Given the description of an element on the screen output the (x, y) to click on. 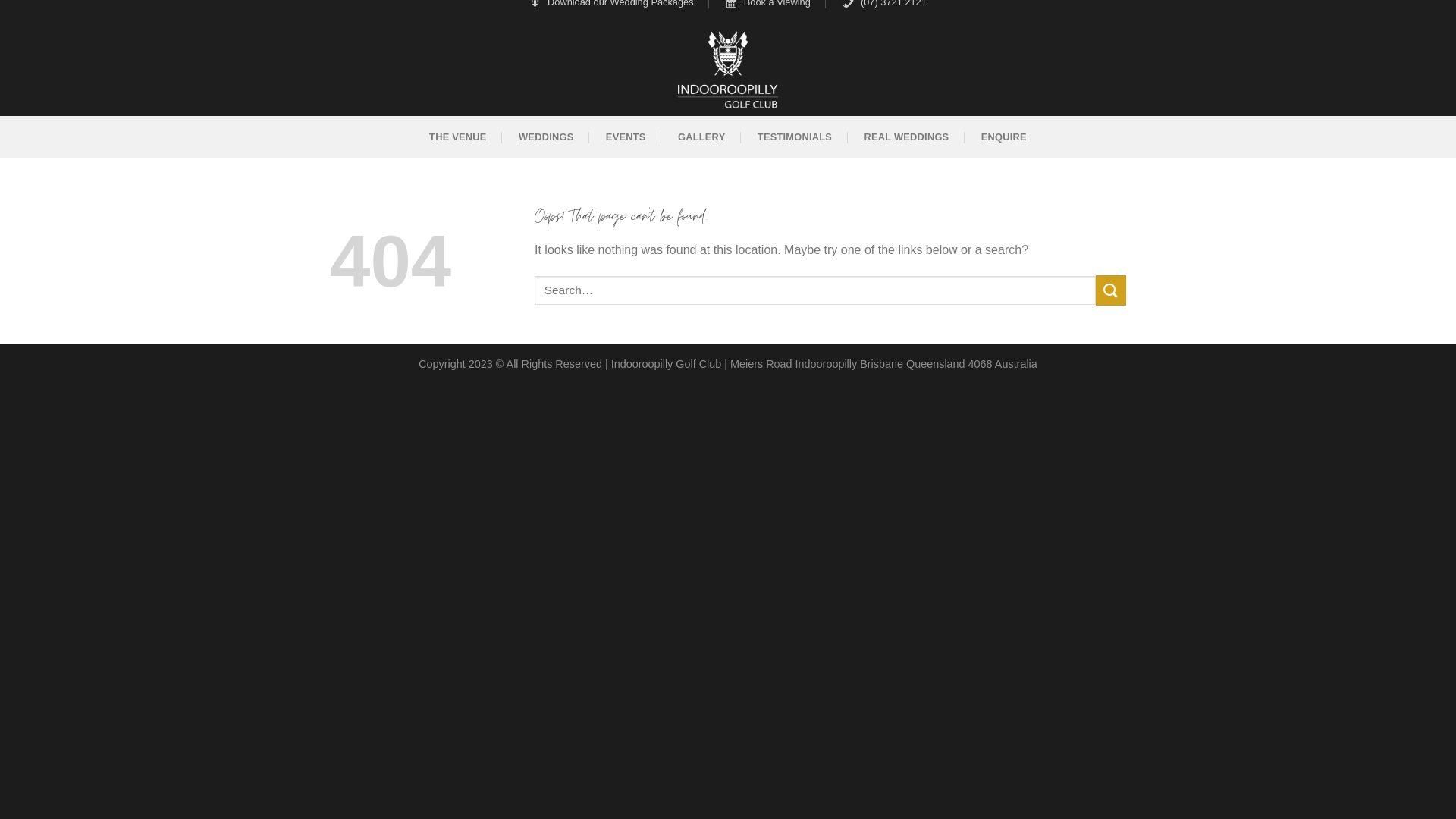
TESTIMONIALS Element type: text (794, 136)
EVENTS Element type: text (625, 136)
ENQUIRE Element type: text (1003, 136)
Meiers Road Indooroopilly Brisbane Queensland 4068 Australia Element type: text (883, 363)
GALLERY Element type: text (701, 136)
REAL WEDDINGS Element type: text (906, 136)
THE VENUE Element type: text (457, 136)
WEDDINGS Element type: text (545, 136)
Indooroopilly Golf Club Element type: text (666, 363)
